Given the description of an element on the screen output the (x, y) to click on. 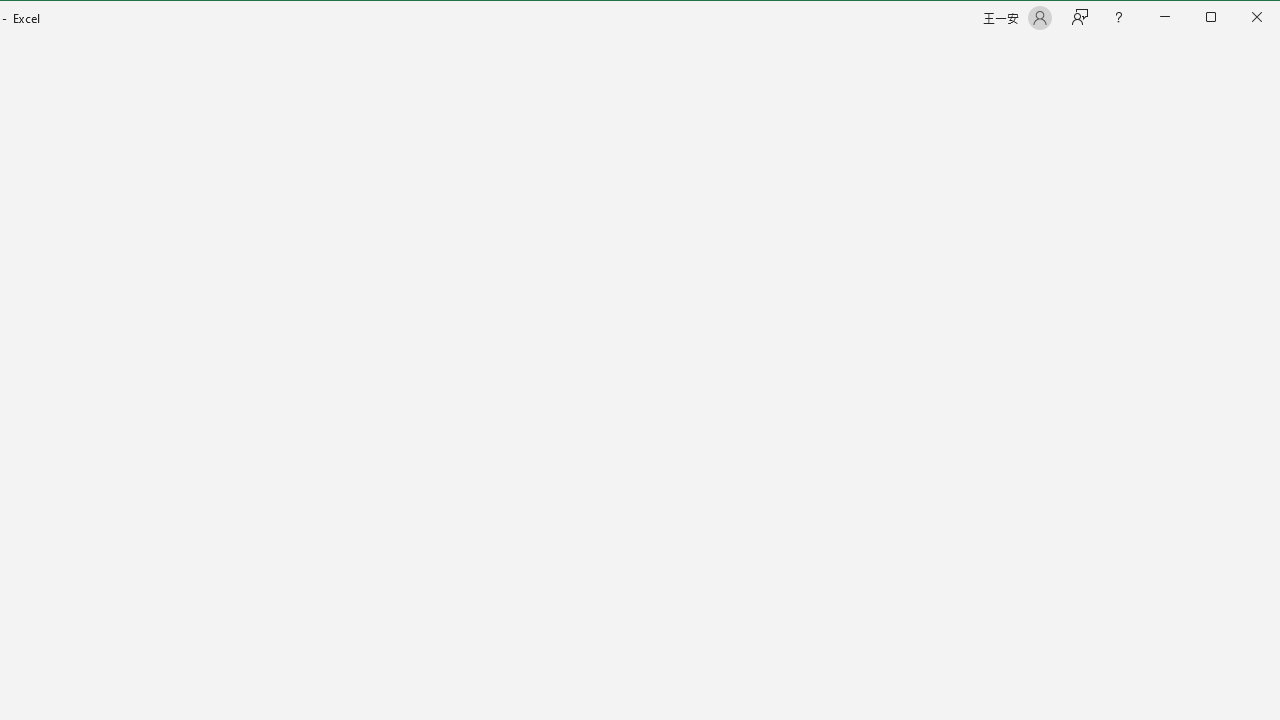
Maximize (1239, 18)
